Given the description of an element on the screen output the (x, y) to click on. 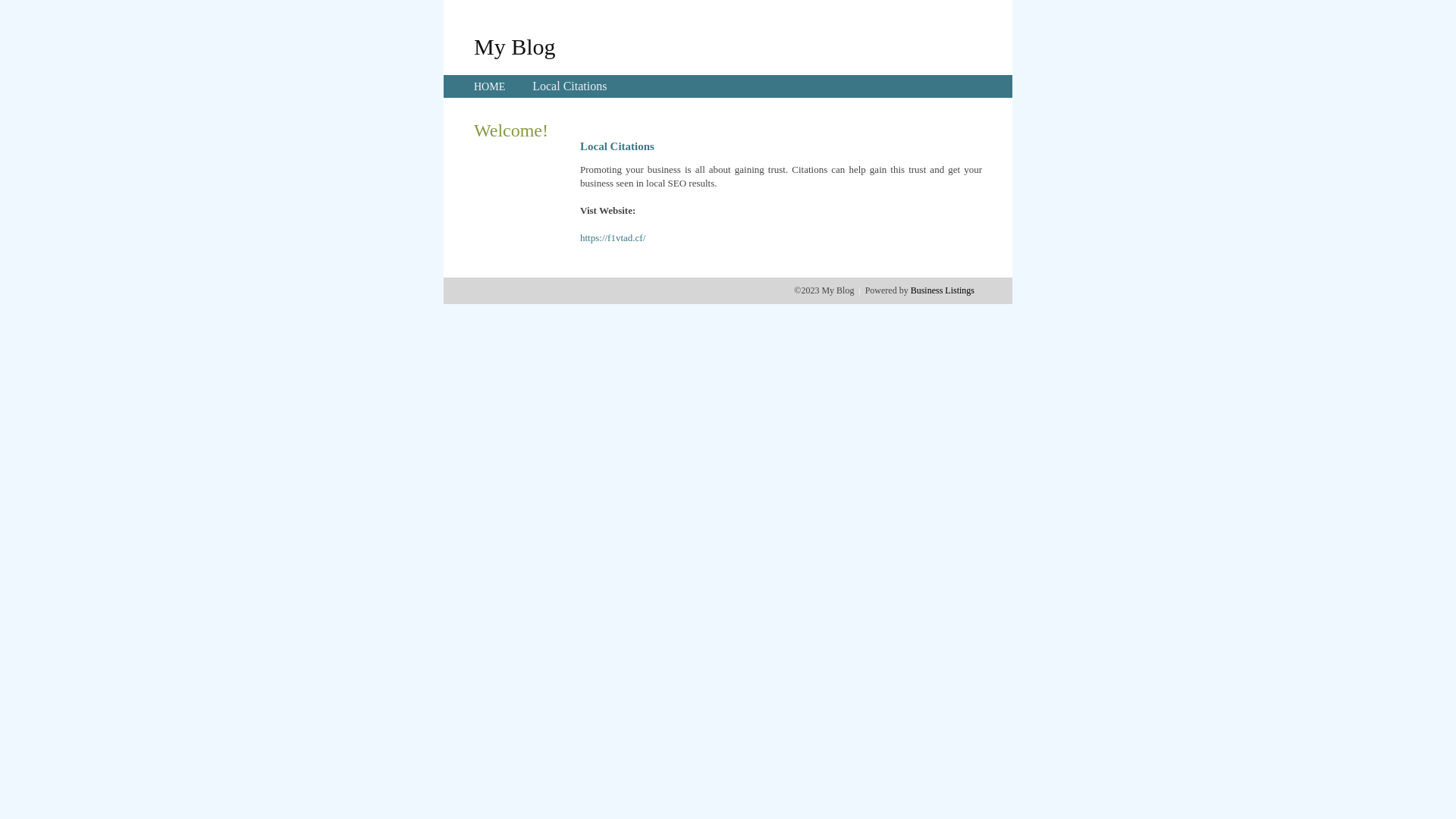
HOME Element type: text (489, 86)
Business Listings Element type: text (942, 290)
Local Citations Element type: text (569, 85)
https://f1vtad.cf/ Element type: text (612, 237)
My Blog Element type: text (514, 46)
